Given the description of an element on the screen output the (x, y) to click on. 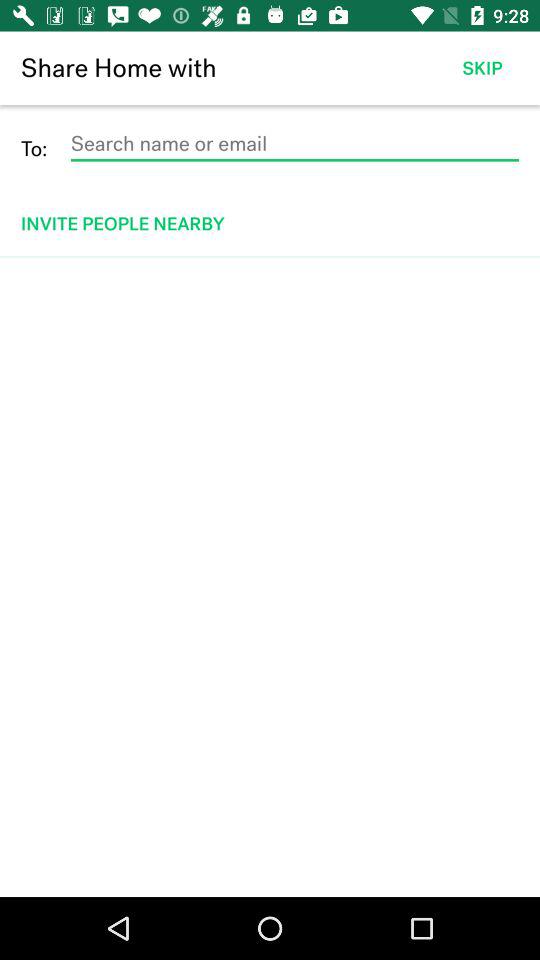
turn off skip item (482, 68)
